Given the description of an element on the screen output the (x, y) to click on. 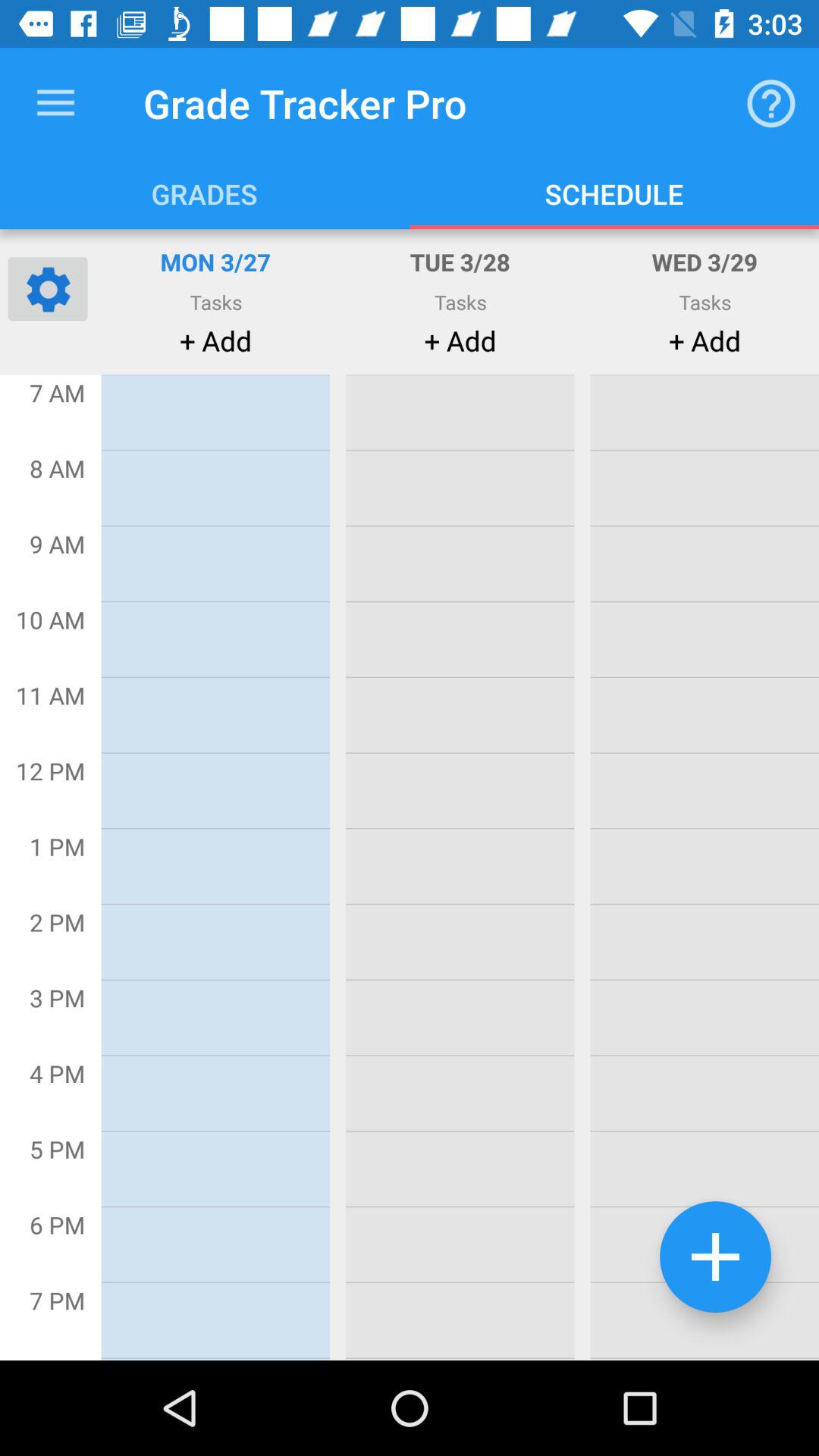
menu (55, 103)
